Given the description of an element on the screen output the (x, y) to click on. 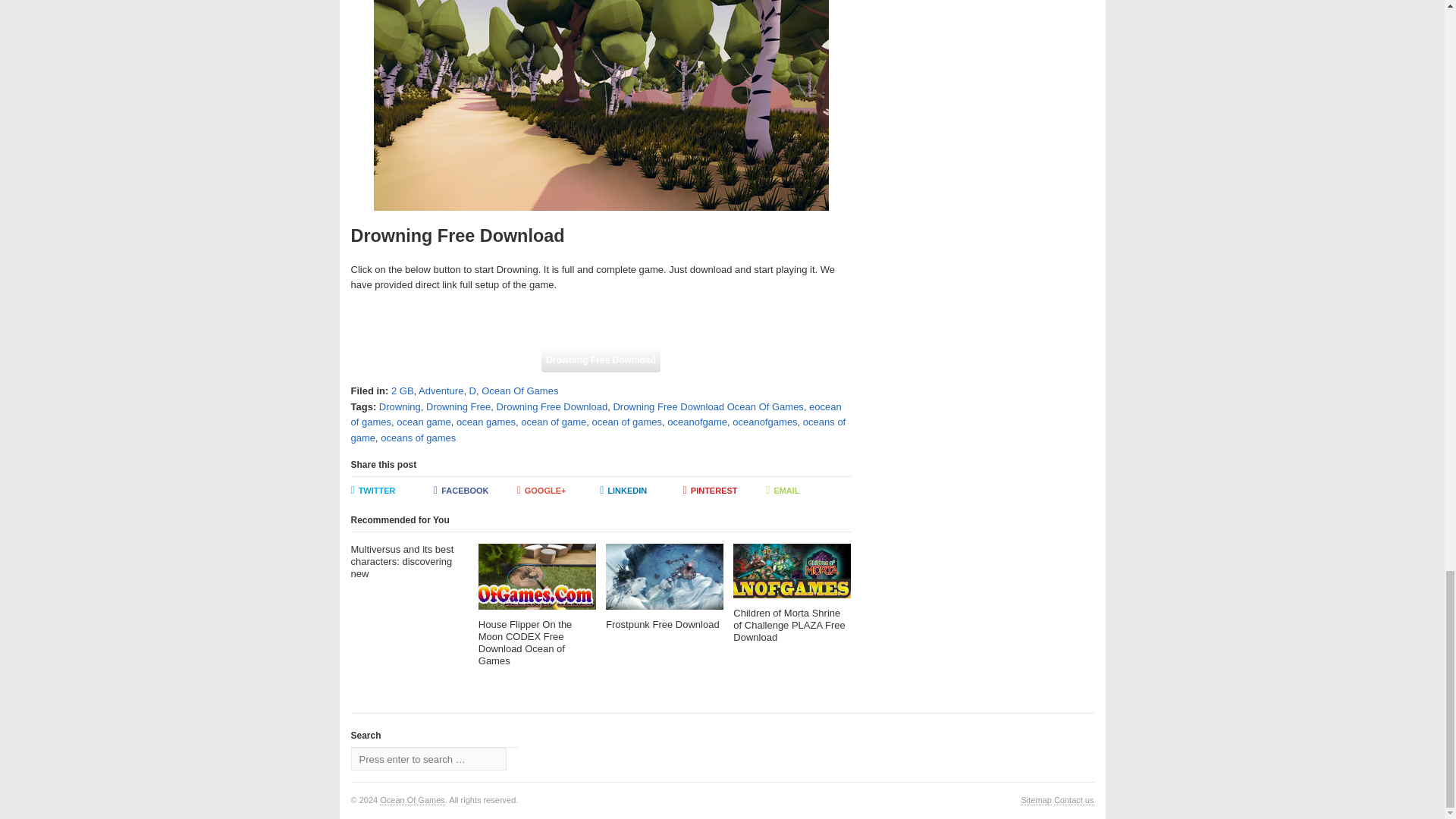
Adventure (441, 390)
Drowning (399, 406)
2 GB (402, 390)
Ocean Of Games (412, 800)
Ocean Of Games (519, 390)
Drowning Free Download (551, 406)
Drowning Free Download (601, 360)
Search for: (427, 758)
Drowning Free (458, 406)
Size: 1.2GB (601, 360)
